Given the description of an element on the screen output the (x, y) to click on. 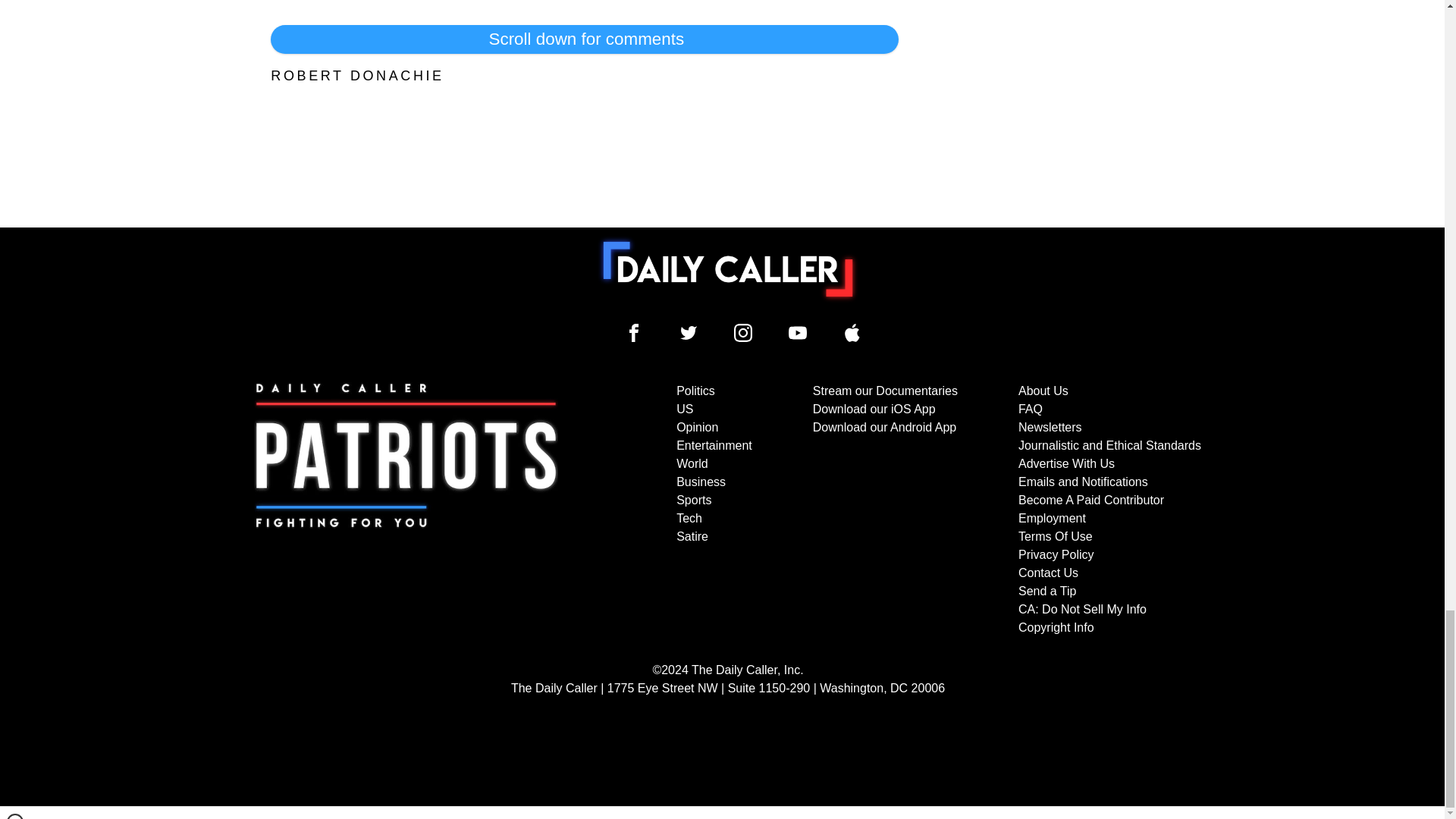
Subscribe to The Daily Caller (405, 509)
Daily Caller YouTube (852, 332)
Daily Caller Facebook (633, 332)
Daily Caller Twitter (688, 332)
Scroll down for comments (584, 39)
Daily Caller YouTube (797, 332)
Daily Caller Instagram (742, 332)
To home page (727, 268)
